Given the description of an element on the screen output the (x, y) to click on. 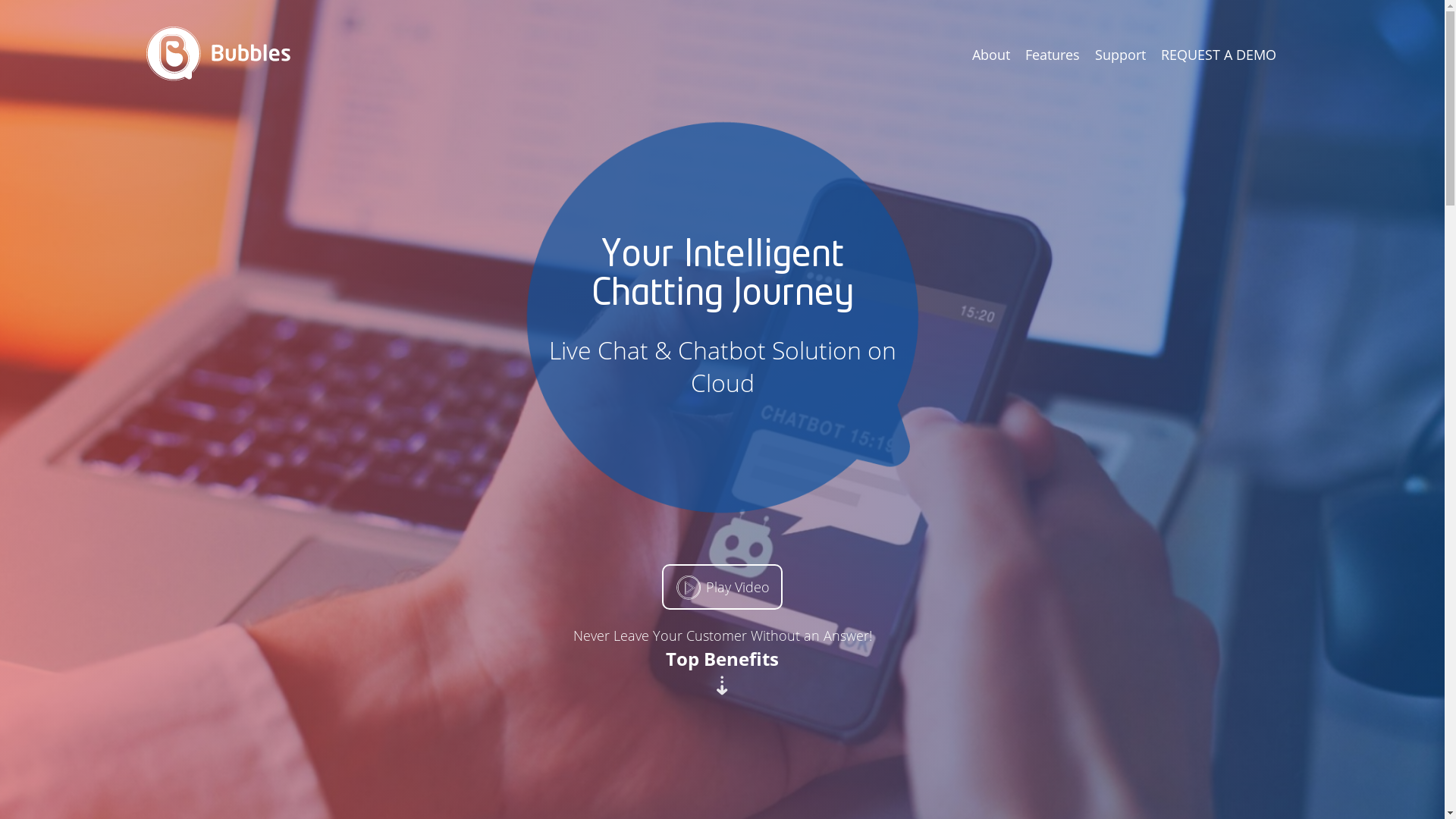
About Element type: text (991, 54)
Features Element type: text (1052, 54)
Skip to main content Element type: text (0, 0)
Play Video Element type: text (722, 586)
Go to homepage Element type: hover (217, 55)
Support Element type: text (1120, 54)
REQUEST A DEMO Element type: text (1217, 54)
